Given the description of an element on the screen output the (x, y) to click on. 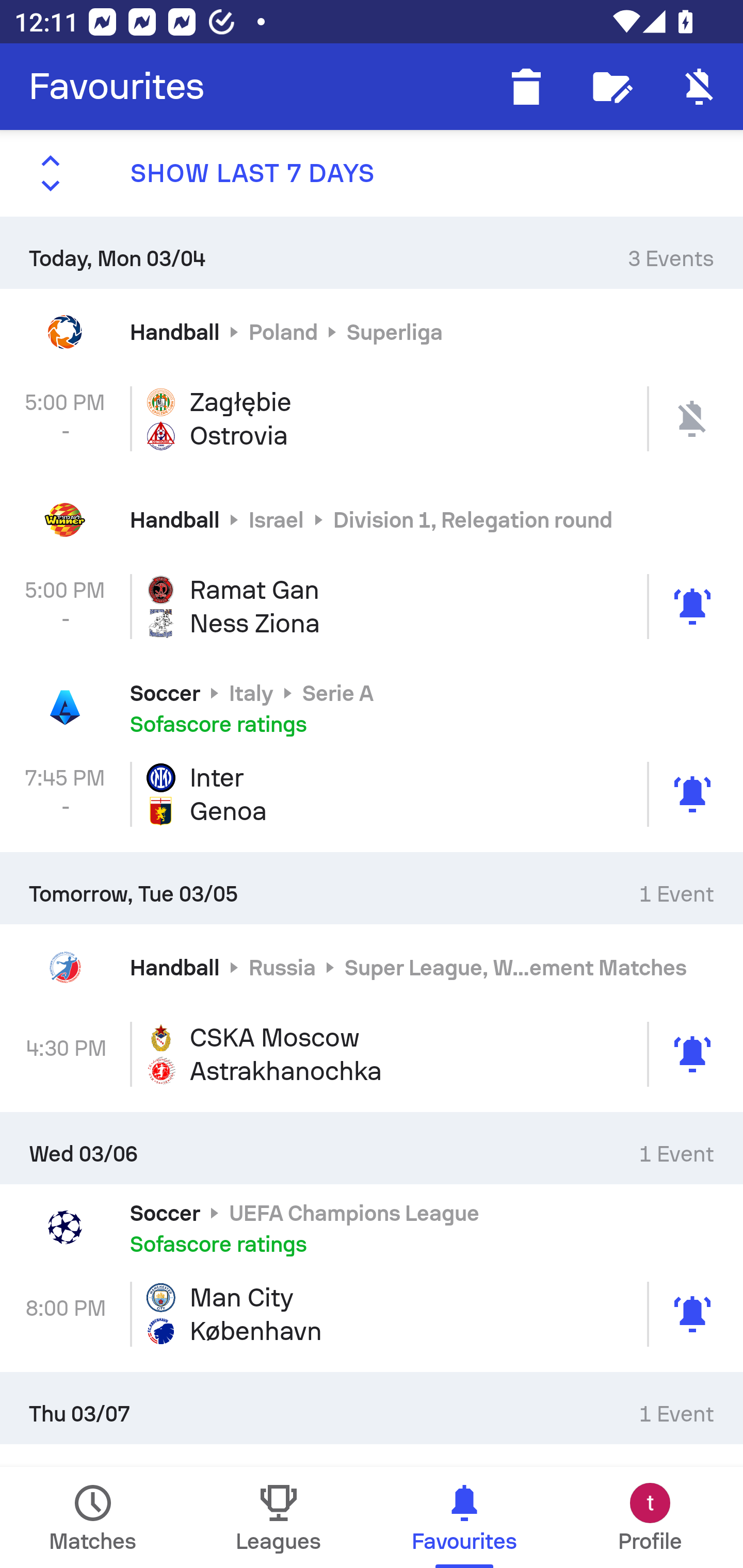
Favourites (116, 86)
Delete finished (525, 86)
Follow editor (612, 86)
Enable notifications (699, 86)
SHOW LAST 7 DAYS (371, 173)
Today, Mon 03/04 3 Events (371, 252)
Handball Poland Superliga (371, 331)
5:00 PM - Zagłębie Ostrovia (371, 418)
Handball Israel Division 1, Relegation round (371, 519)
5:00 PM - Ramat Gan Ness Ziona (371, 605)
Soccer Italy Serie A Sofascore ratings (371, 707)
7:45 PM - Inter Genoa (371, 794)
Tomorrow, Tue 03/05 1 Event (371, 887)
4:30 PM CSKA Moscow Astrakhanochka (371, 1054)
Wed 03/06 1 Event (371, 1147)
Soccer UEFA Champions League Sofascore ratings (371, 1227)
8:00 PM Man City København (371, 1314)
Thu 03/07 1 Event (371, 1408)
Matches (92, 1517)
Leagues (278, 1517)
Profile (650, 1517)
